Given the description of an element on the screen output the (x, y) to click on. 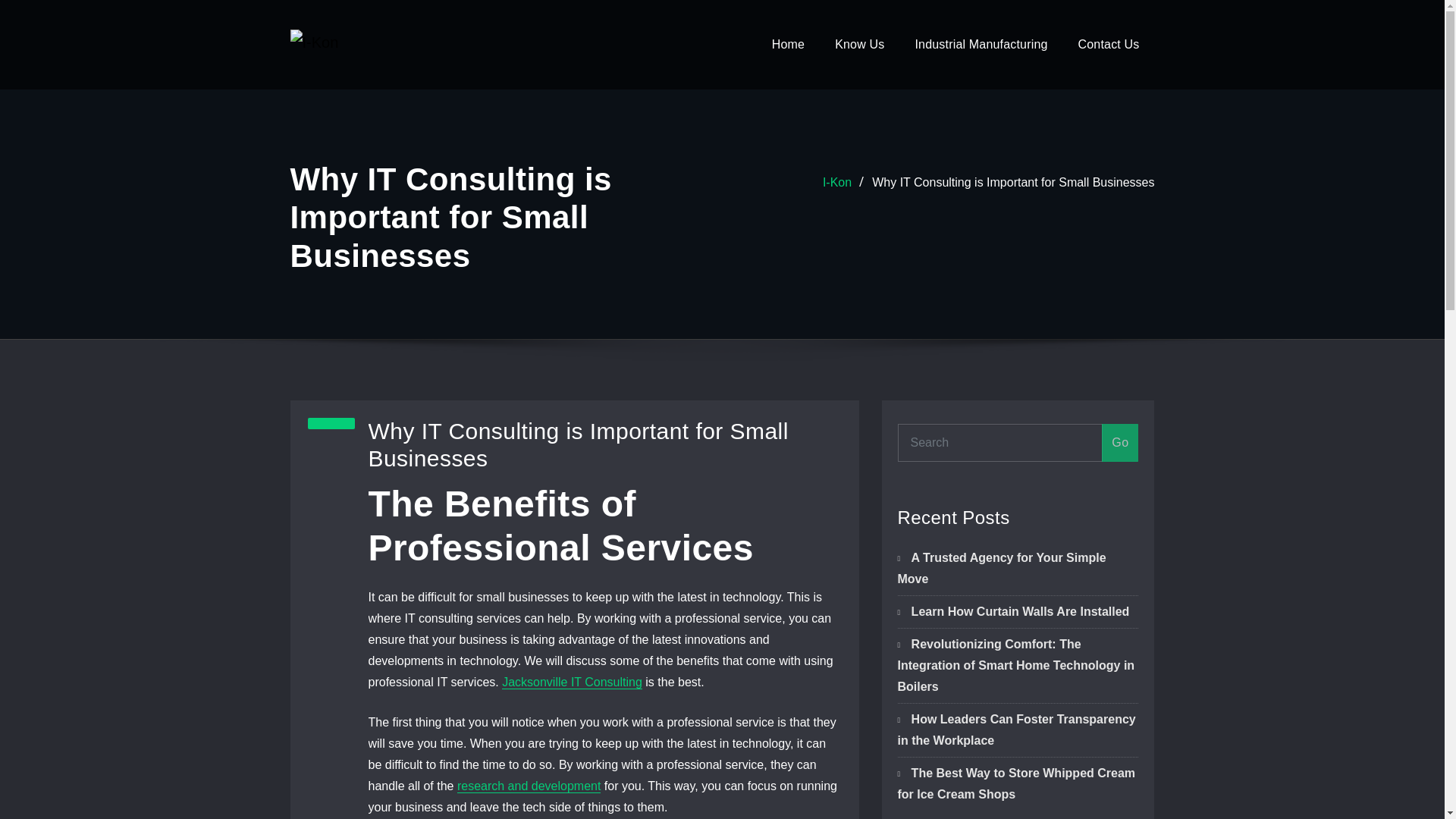
Contact Us (1108, 44)
I-Kon (836, 182)
Why IT Consulting is Important for Small Businesses (1013, 182)
Go (1120, 442)
Know Us (859, 44)
research and development (528, 785)
A Trusted Agency for Your Simple Move (1002, 568)
Jacksonville IT Consulting (572, 681)
Industrial Manufacturing (980, 44)
Learn How Curtain Walls Are Installed (1020, 611)
The Best Way to Store Whipped Cream for Ice Cream Shops (1016, 783)
How Leaders Can Foster Transparency in the Workplace (1016, 729)
